Given the description of an element on the screen output the (x, y) to click on. 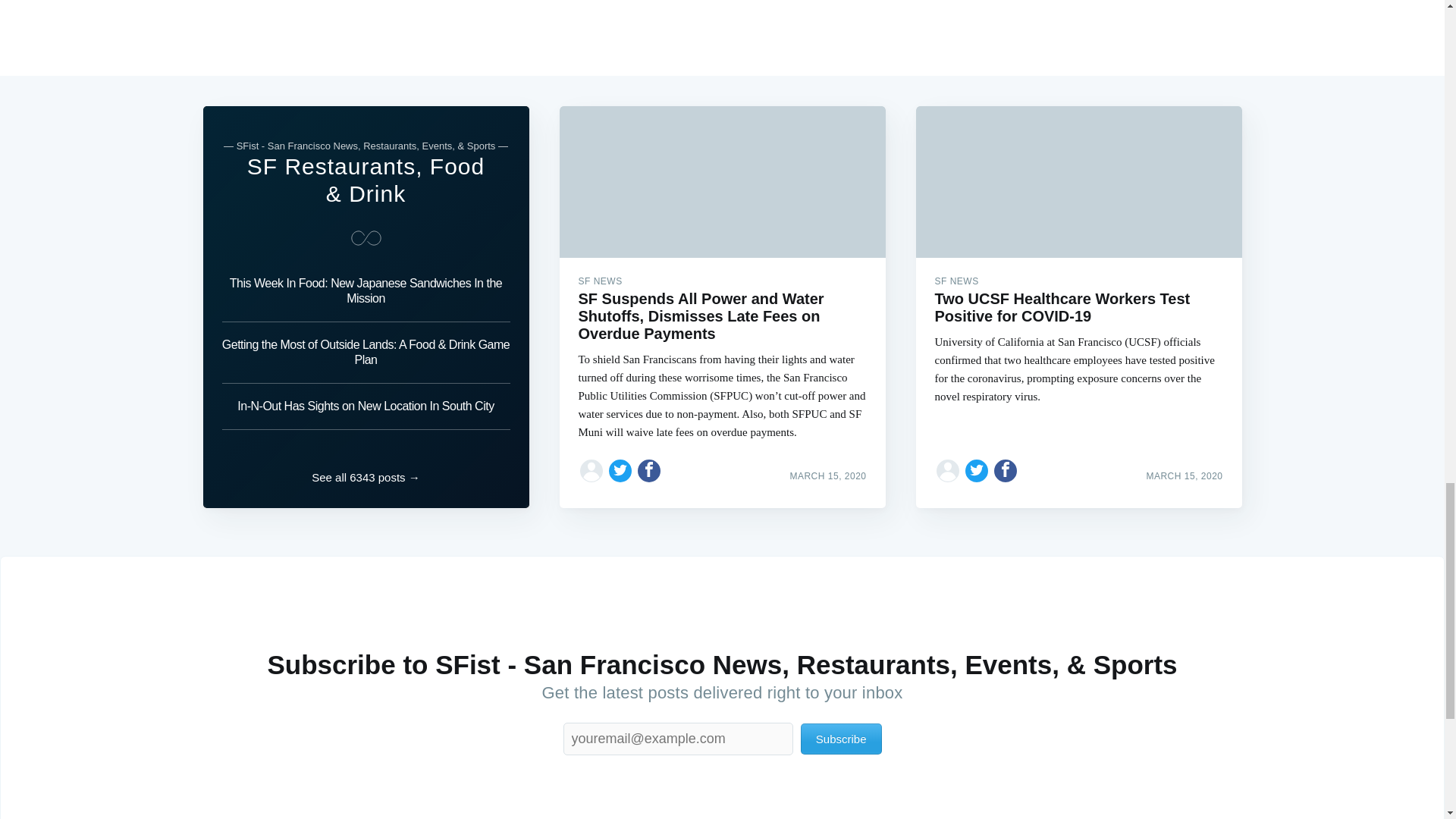
Share on Facebook (649, 470)
Share on Twitter (976, 470)
In-N-Out Has Sights on New Location In South City (365, 406)
Share on Facebook (1004, 470)
Share on Twitter (620, 470)
This Week In Food: New Japanese Sandwiches In the Mission (365, 295)
